Given the description of an element on the screen output the (x, y) to click on. 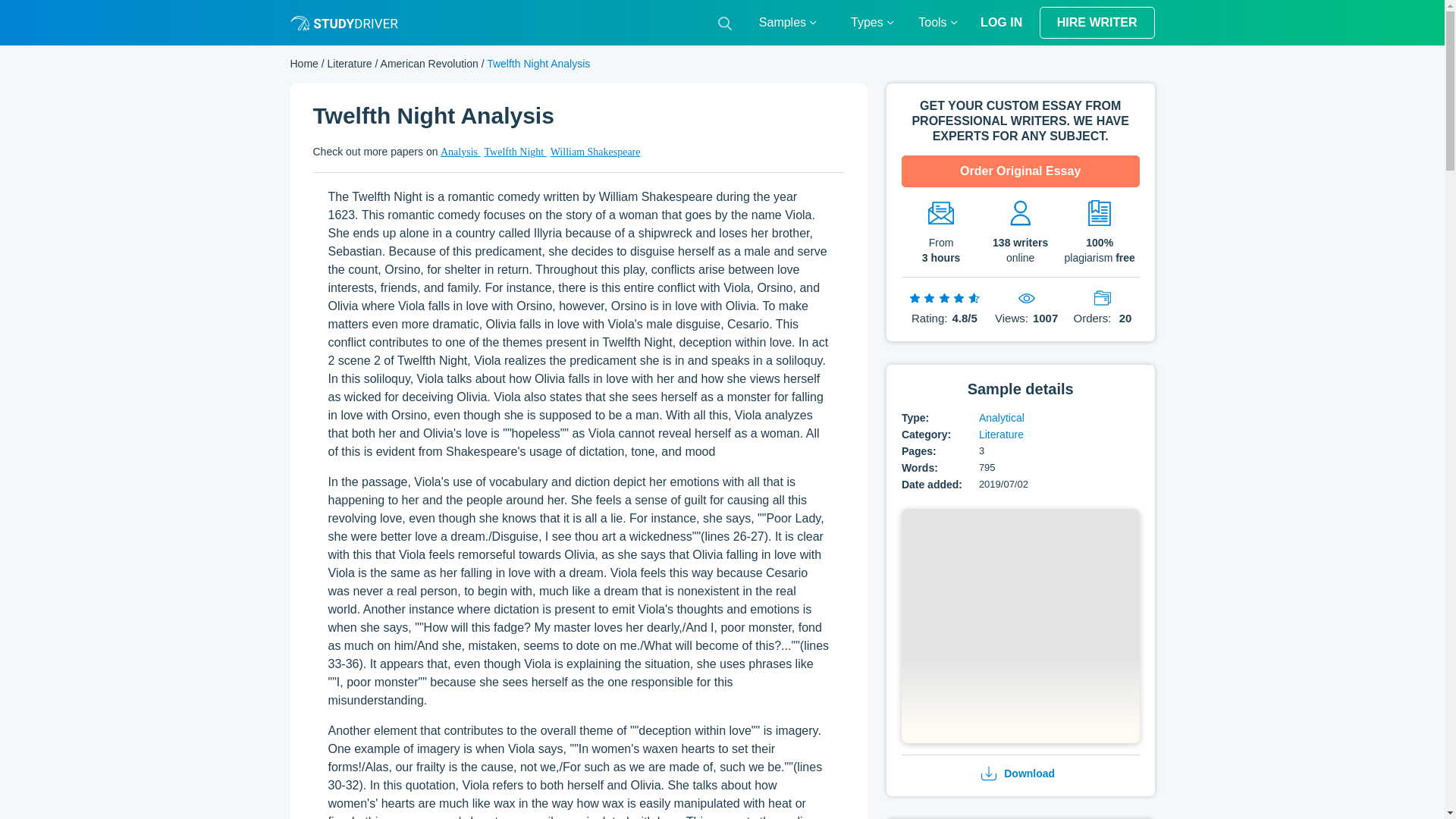
Twelfth Night Analysis (1020, 627)
